Given the description of an element on the screen output the (x, y) to click on. 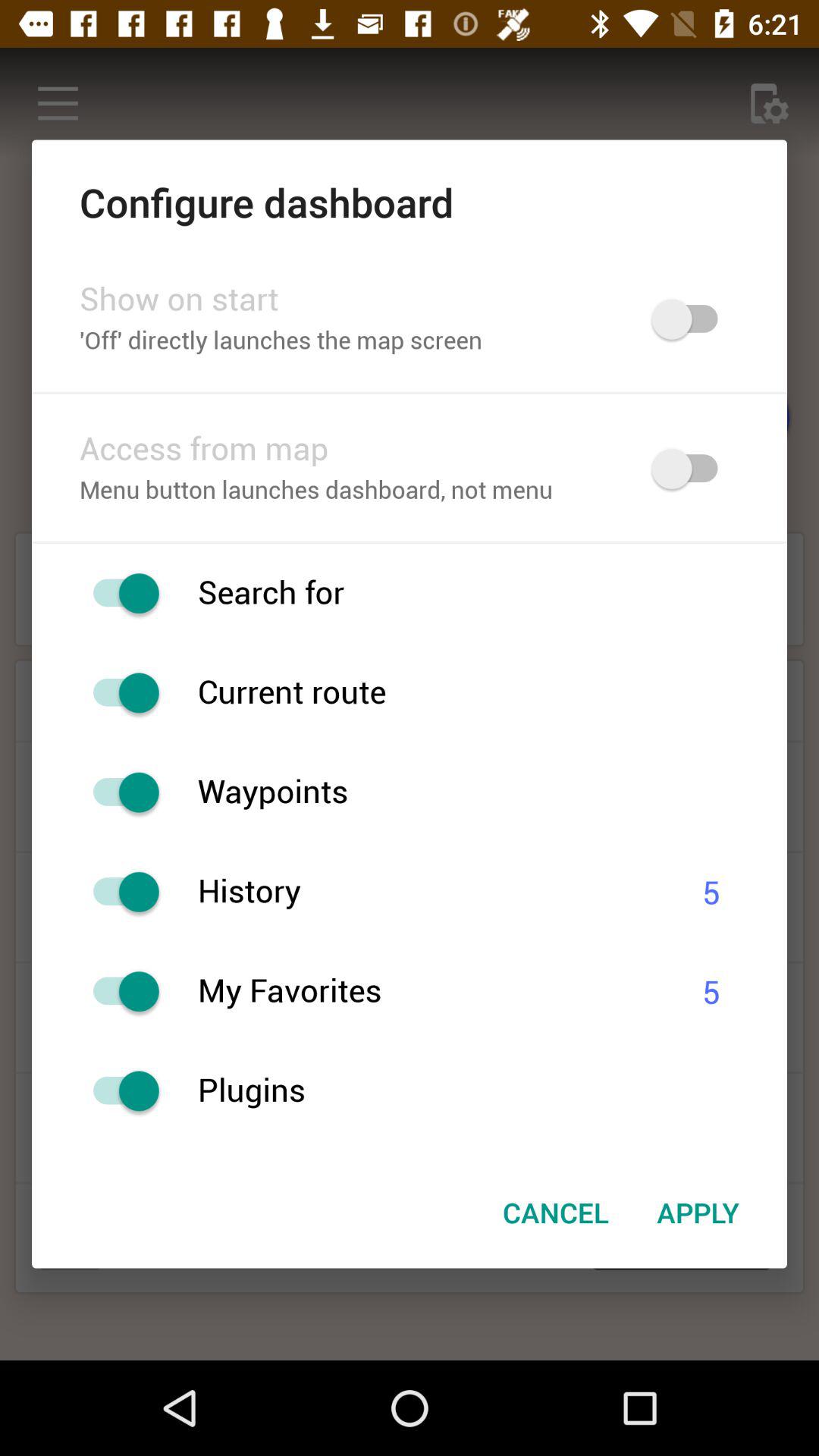
switch plugins (118, 1091)
